Given the description of an element on the screen output the (x, y) to click on. 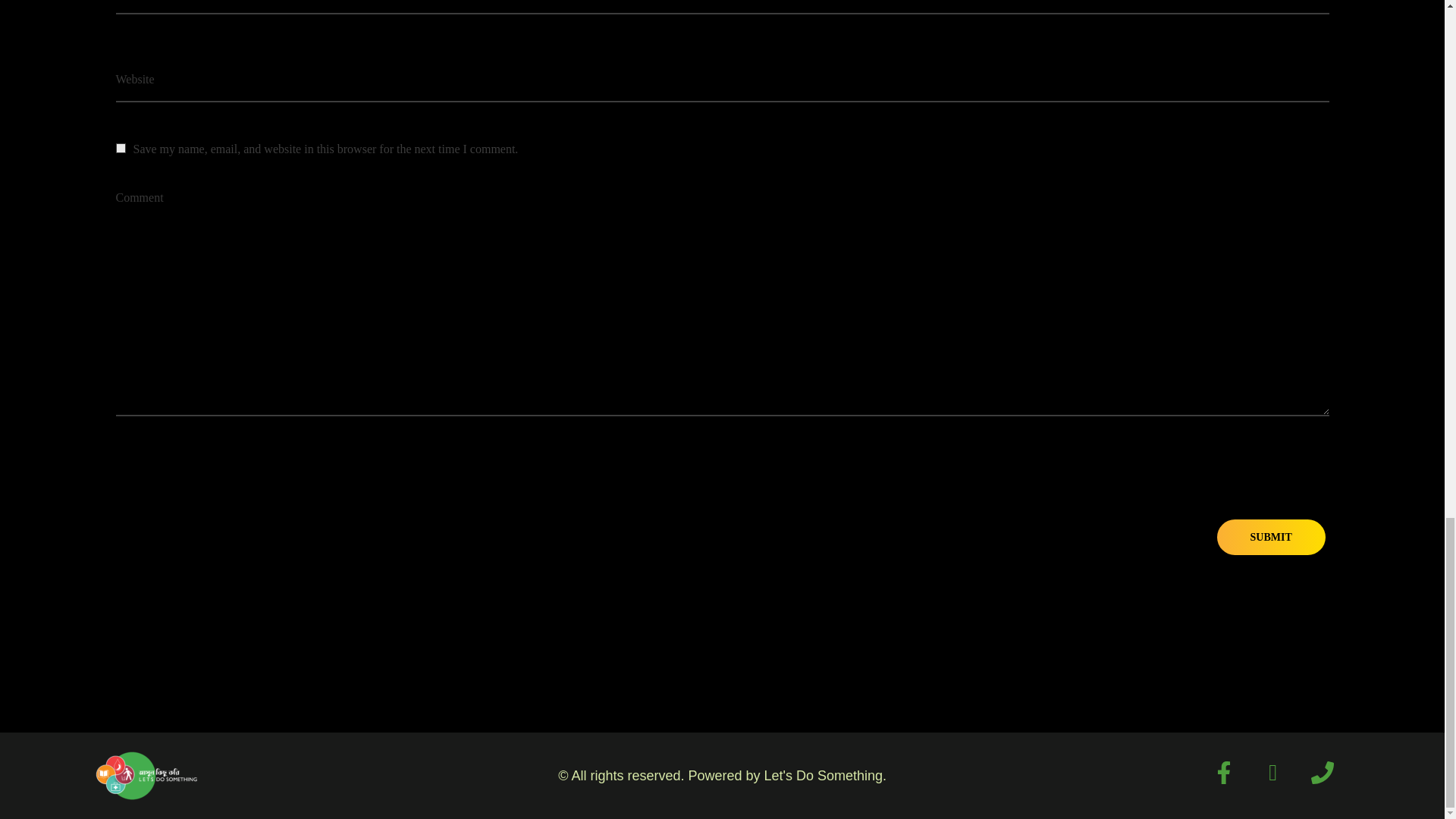
yes (120, 148)
Submit (1270, 537)
Submit (1270, 537)
